Given the description of an element on the screen output the (x, y) to click on. 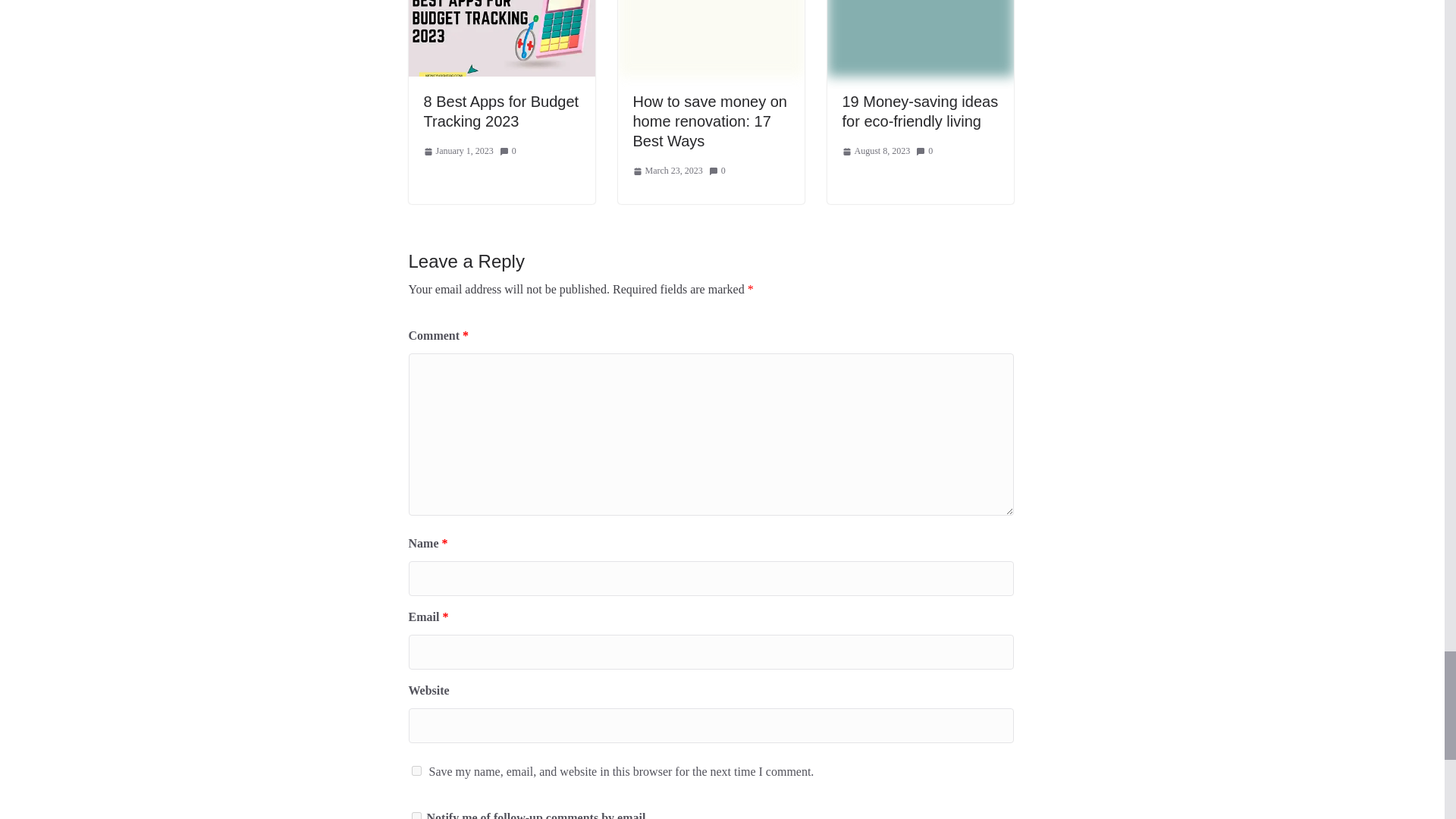
subscribe (415, 815)
yes (415, 770)
